Given the description of an element on the screen output the (x, y) to click on. 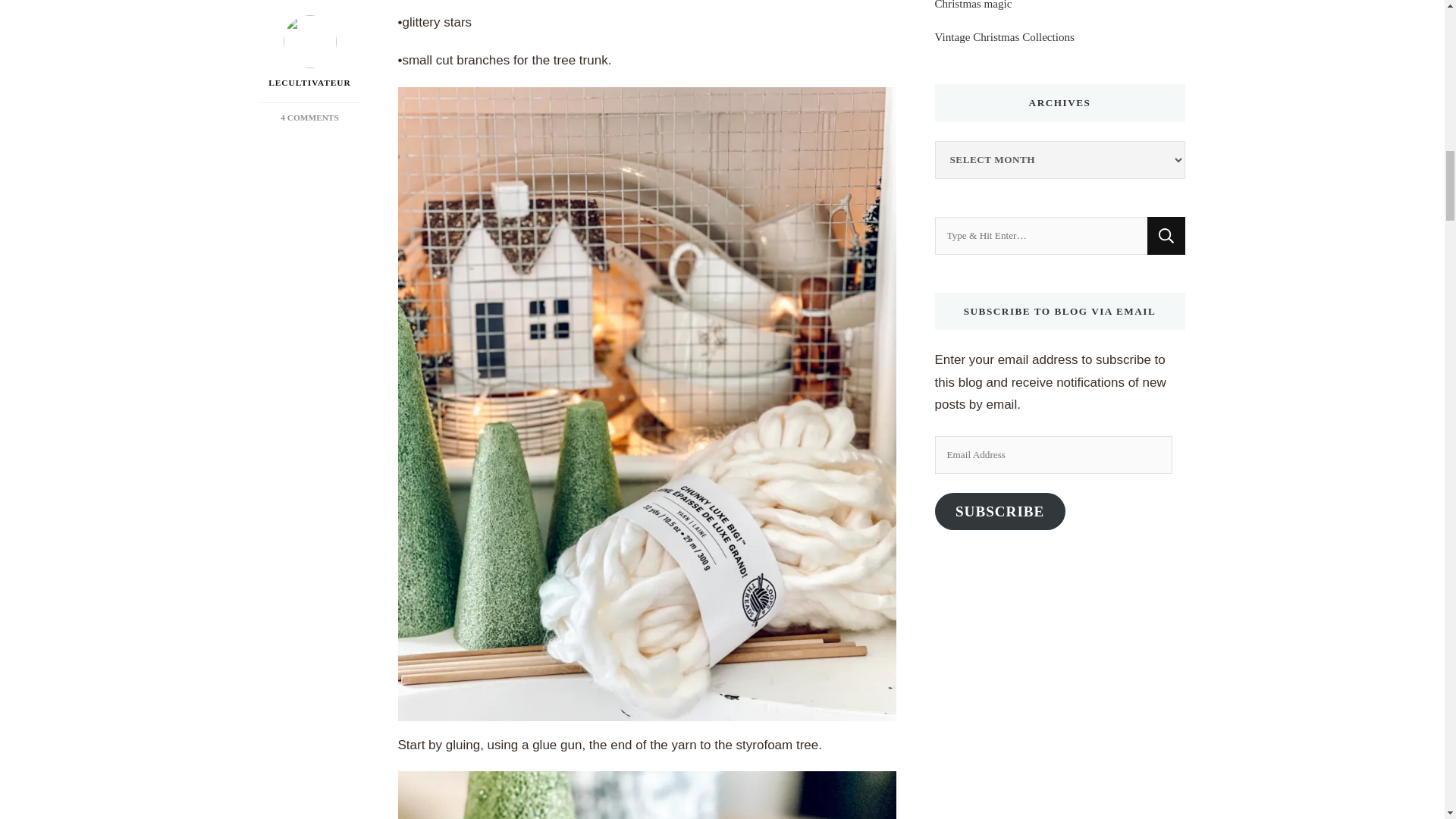
Search (1166, 235)
Search (1166, 235)
